Given the description of an element on the screen output the (x, y) to click on. 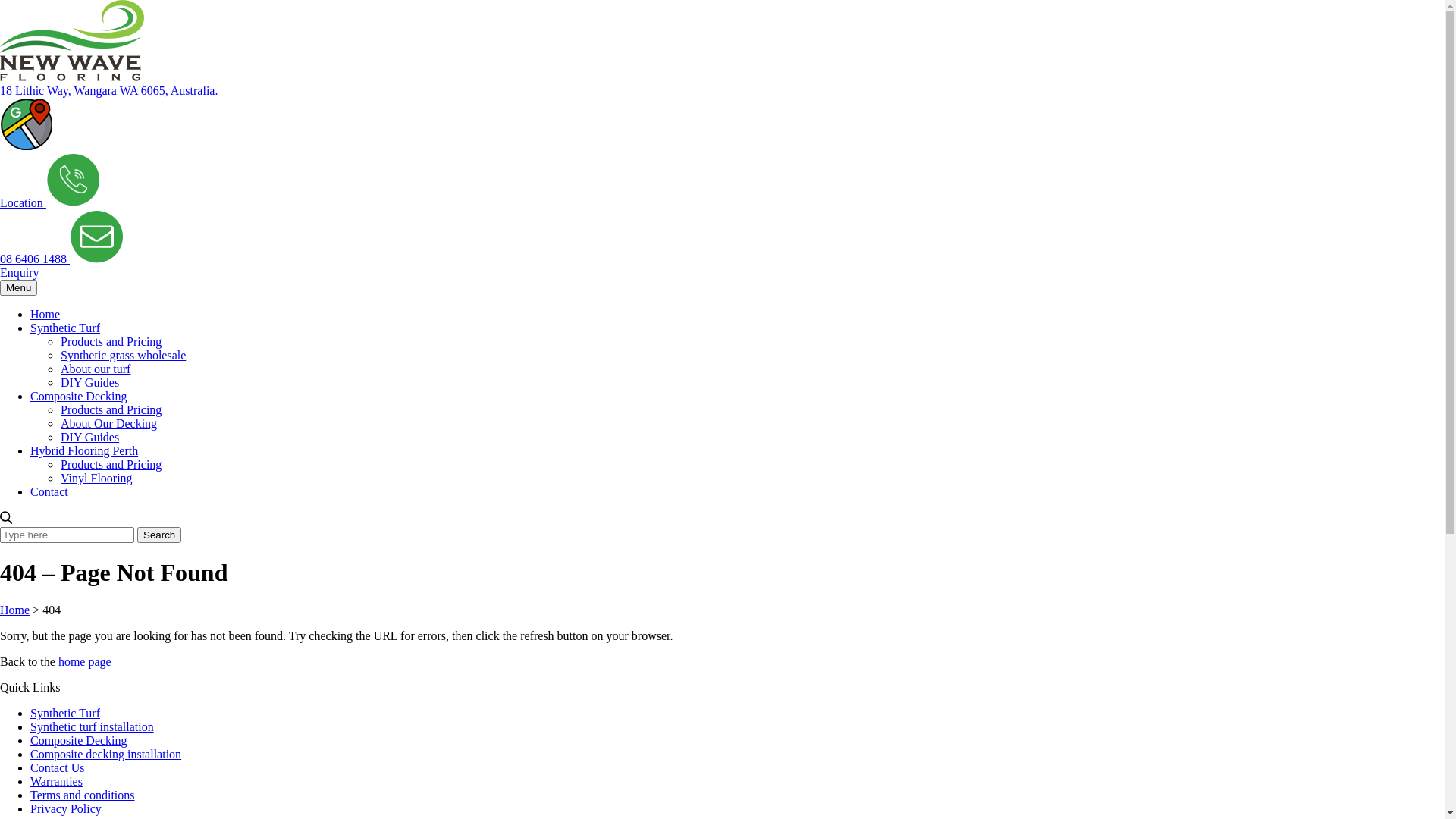
Contact Us Element type: text (57, 767)
About our turf Element type: text (95, 368)
Terms and conditions Element type: text (82, 794)
Enquiry Element type: text (62, 265)
Synthetic turf installation Element type: text (91, 726)
Products and Pricing Element type: text (110, 341)
Home Element type: text (44, 313)
Composite decking installation Element type: text (105, 753)
Vinyl Flooring Element type: text (96, 477)
Synthetic Turf Element type: text (65, 712)
Privacy Policy Element type: text (65, 808)
08 6406 1488 Element type: text (50, 230)
DIY Guides Element type: text (89, 382)
Search Element type: text (159, 534)
Products and Pricing Element type: text (110, 409)
Composite Decking Element type: text (78, 740)
Products and Pricing Element type: text (110, 464)
Contact Element type: text (49, 491)
Synthetic Turf Element type: text (65, 327)
Location Element type: text (26, 174)
Menu Element type: text (18, 287)
home page Element type: text (84, 661)
About Our Decking Element type: text (108, 423)
Synthetic grass wholesale Element type: text (122, 354)
18 Lithic Way, Wangara WA 6065, Australia. Element type: text (108, 90)
Hybrid Flooring Perth Element type: text (84, 450)
Composite Decking Element type: text (78, 395)
Warranties Element type: text (56, 781)
Home Element type: text (14, 609)
DIY Guides Element type: text (89, 436)
